Given the description of an element on the screen output the (x, y) to click on. 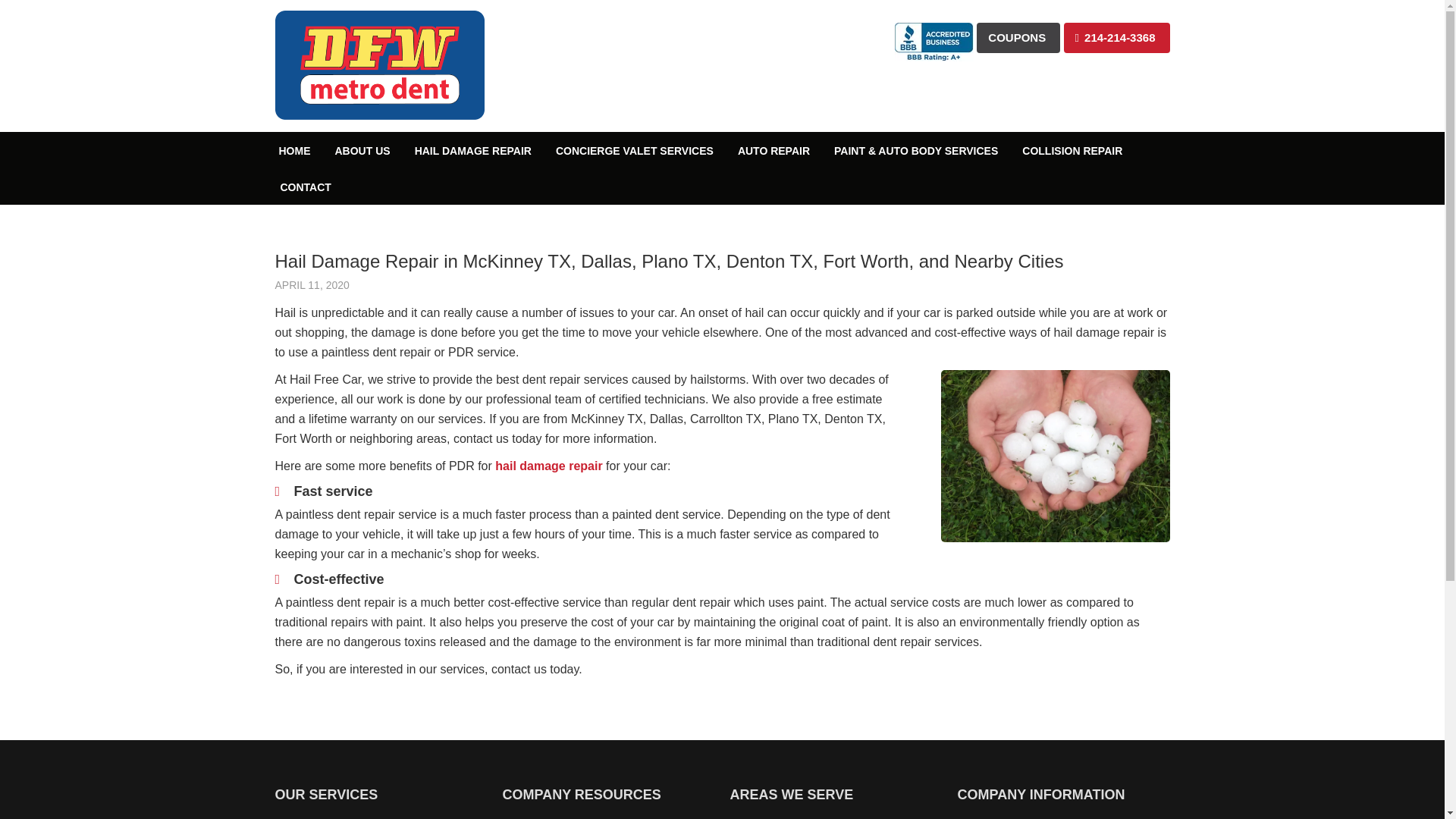
CONTACT (304, 186)
leave us a BBB review (934, 31)
HOME (293, 149)
214-214-3368 (1117, 37)
COUPONS (1017, 37)
AUTO REPAIR (773, 149)
COLLISION REPAIR (1072, 149)
HAIL DAMAGE REPAIR (473, 149)
